Given the description of an element on the screen output the (x, y) to click on. 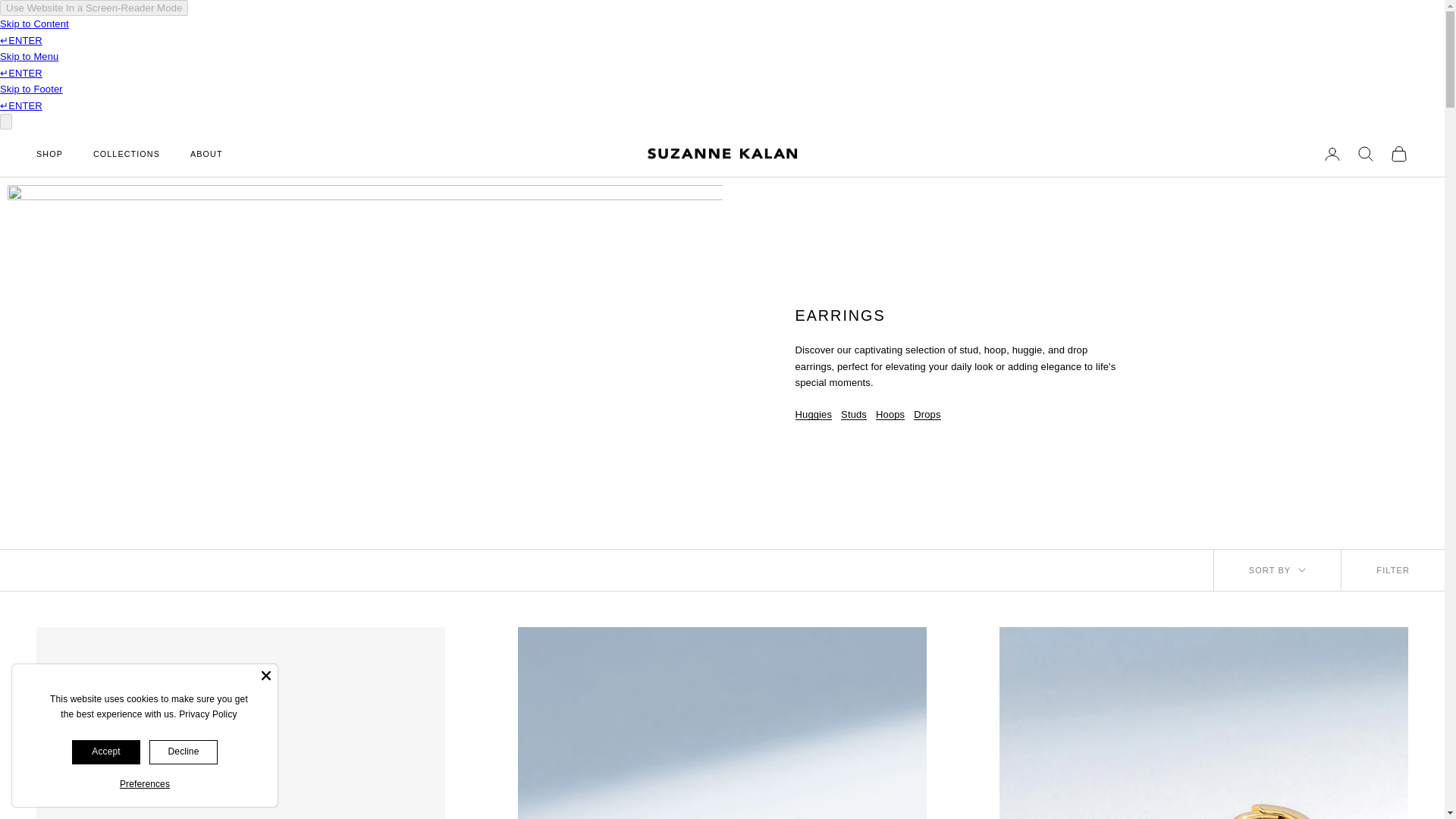
SUZANNE KALAN (721, 153)
Privacy Policy (208, 714)
